Given the description of an element on the screen output the (x, y) to click on. 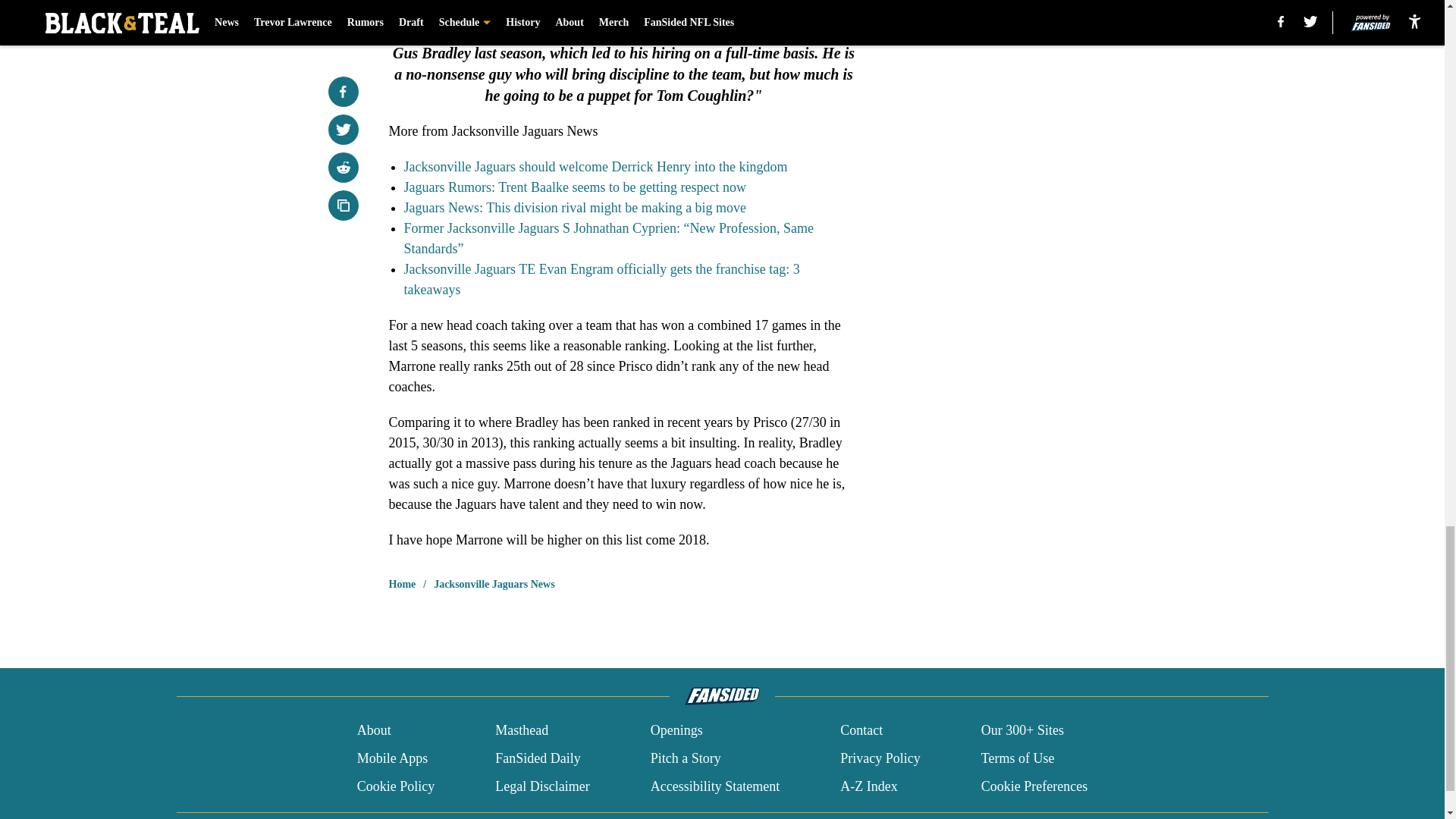
FanSided Daily (537, 758)
Jacksonville Jaguars News (493, 584)
Home (401, 584)
Jaguars News: This division rival might be making a big move (574, 207)
Contact (861, 730)
About (373, 730)
Mobile Apps (392, 758)
Privacy Policy (880, 758)
Pitch a Story (685, 758)
